Given the description of an element on the screen output the (x, y) to click on. 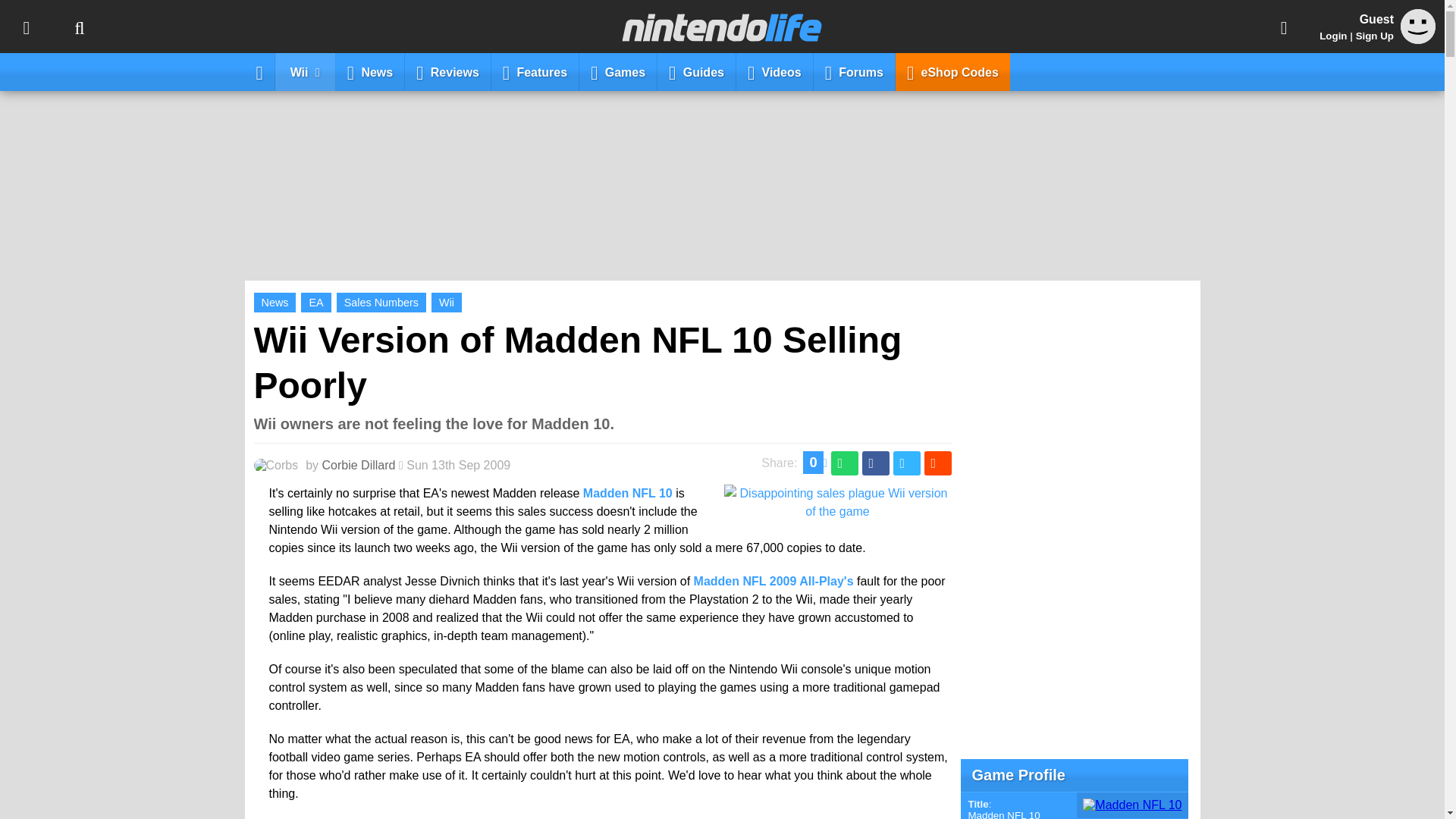
Share this on Reddit (936, 463)
News (370, 71)
EA (315, 302)
Reviews (448, 71)
News (274, 302)
Sign Up (1374, 35)
Guest (1417, 26)
Guides (697, 71)
Disappointing sales plague Wii version of the game (836, 511)
Nintendo Life (721, 27)
